Given the description of an element on the screen output the (x, y) to click on. 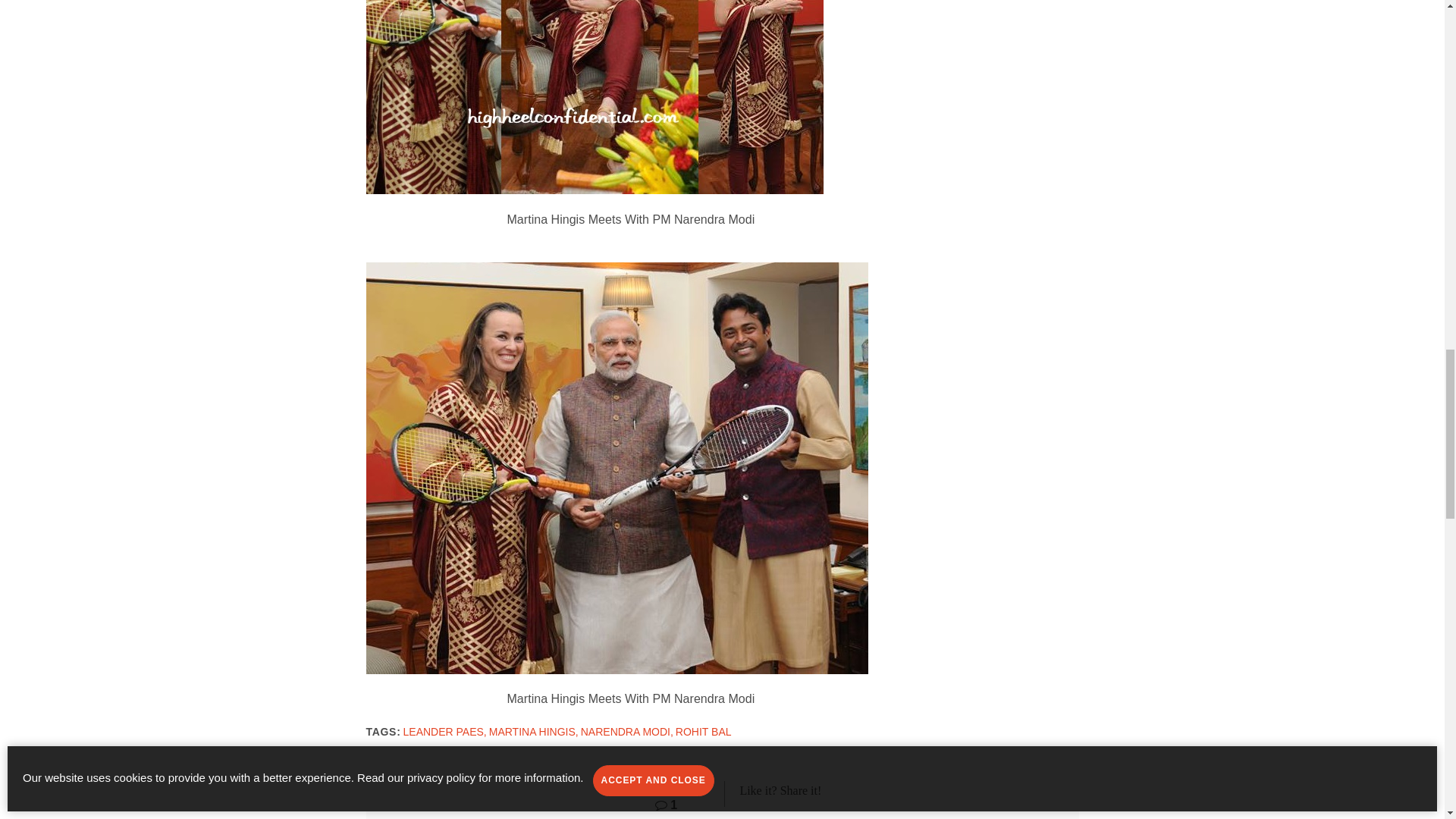
1 (666, 804)
NARENDRA MODI, (626, 731)
LEANDER PAES, (444, 731)
ROHIT BAL (703, 731)
MARTINA HINGIS, (533, 731)
